Given the description of an element on the screen output the (x, y) to click on. 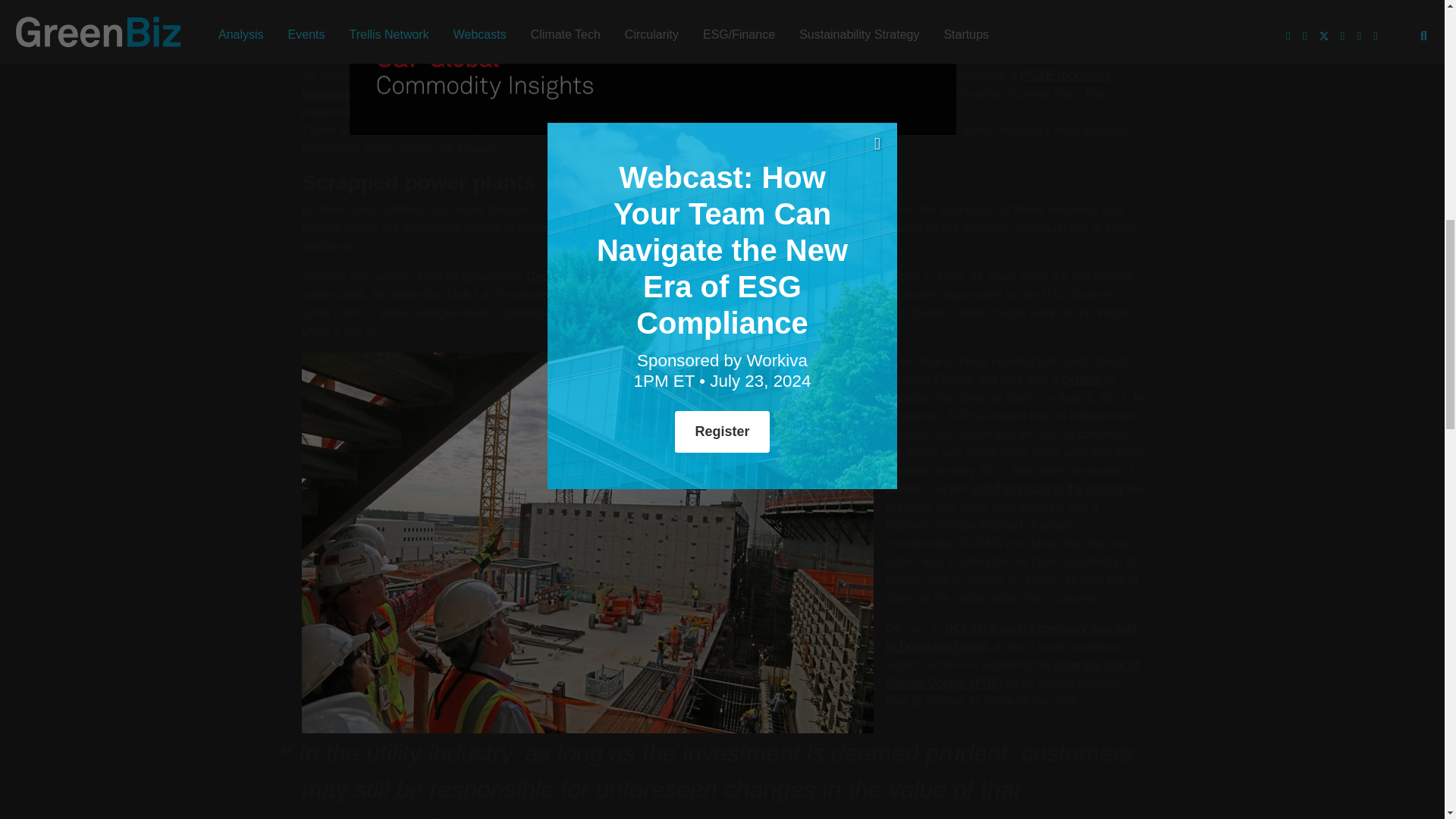
3rd party ad content (439, 266)
